Given the description of an element on the screen output the (x, y) to click on. 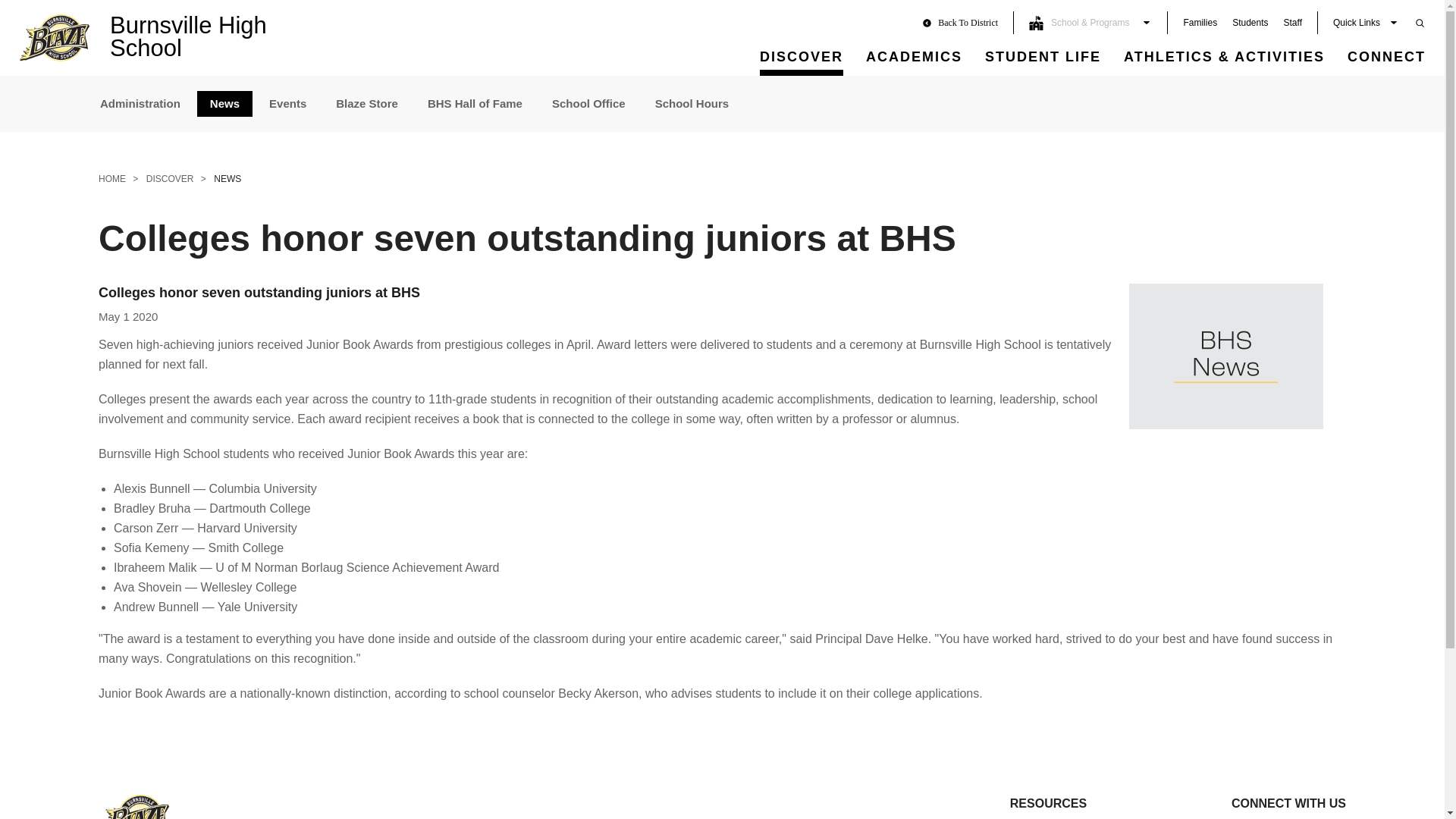
Back to District (967, 22)
